Given the description of an element on the screen output the (x, y) to click on. 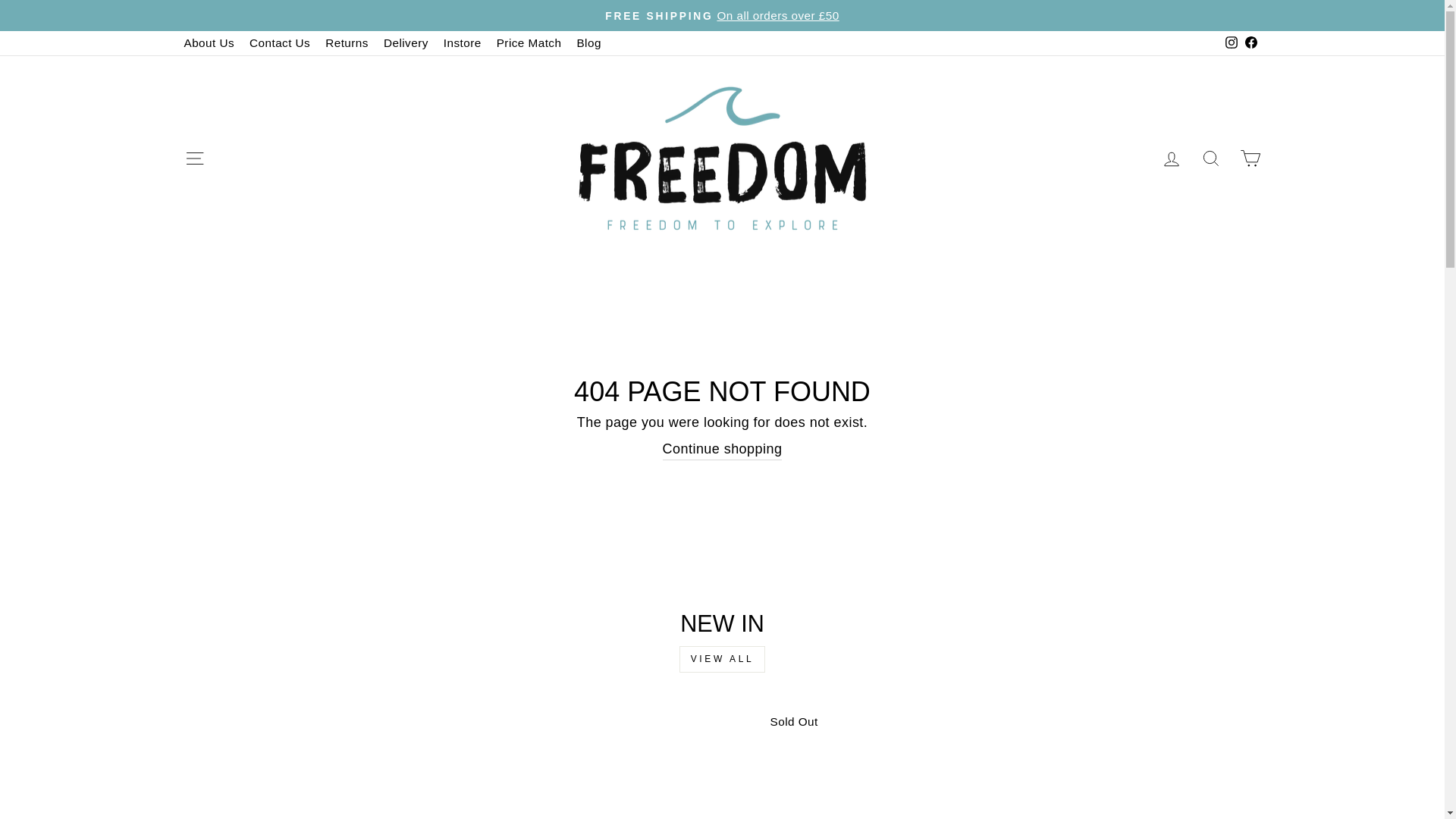
instagram (1231, 42)
Freedom To Explore on Facebook (1250, 42)
ACCOUNT (1170, 158)
ICON-HAMBURGER (194, 158)
Freedom To Explore on Instagram (1230, 42)
ICON-SEARCH (1210, 158)
